Given the description of an element on the screen output the (x, y) to click on. 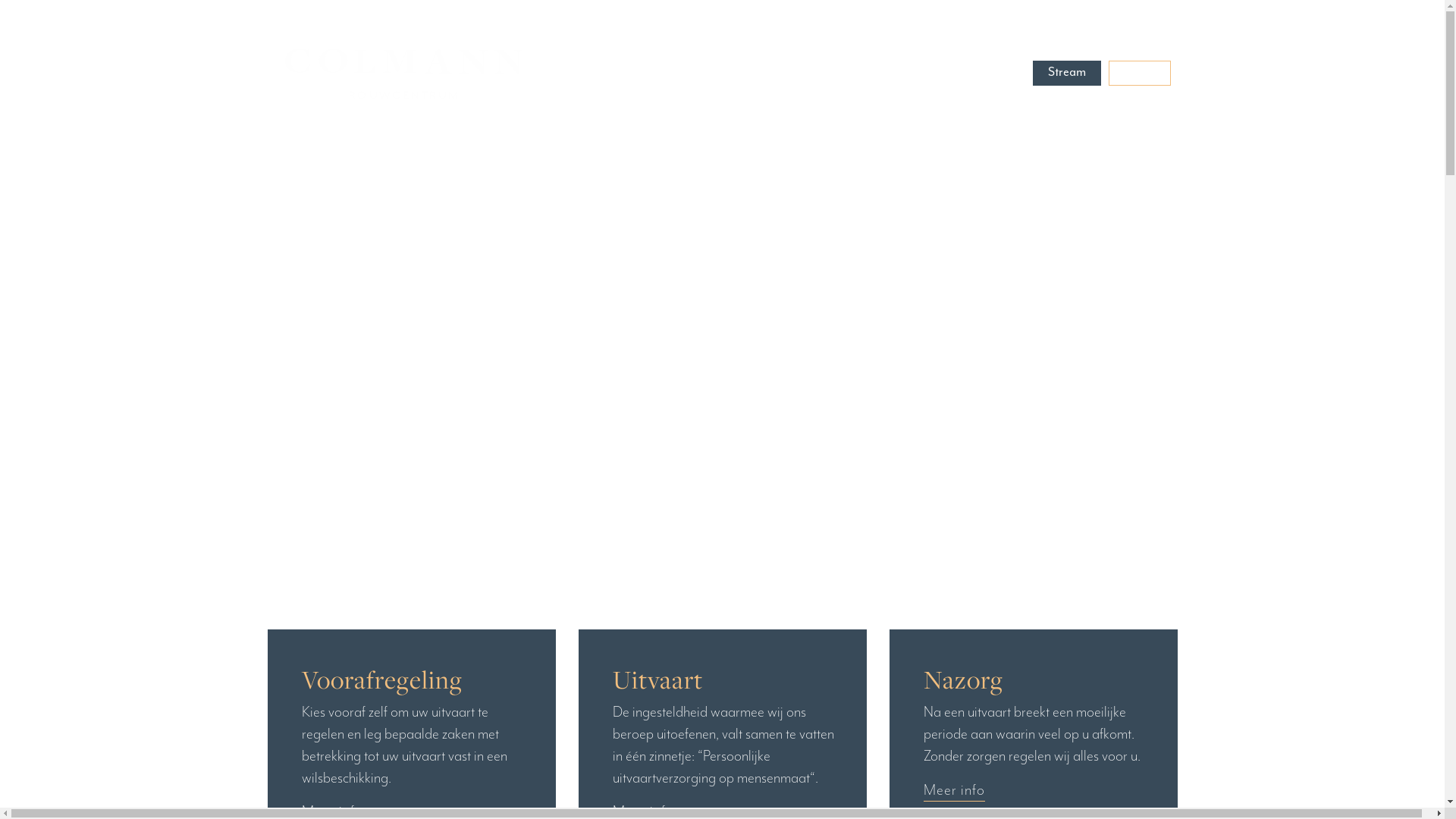
Rouwberichten Element type: text (738, 71)
Contact Element type: text (996, 71)
Meer info Element type: text (954, 790)
De uitvaart Element type: text (838, 71)
Login Element type: text (1139, 72)
Stream Element type: text (1066, 71)
Over ons Element type: text (920, 71)
